Given the description of an element on the screen output the (x, y) to click on. 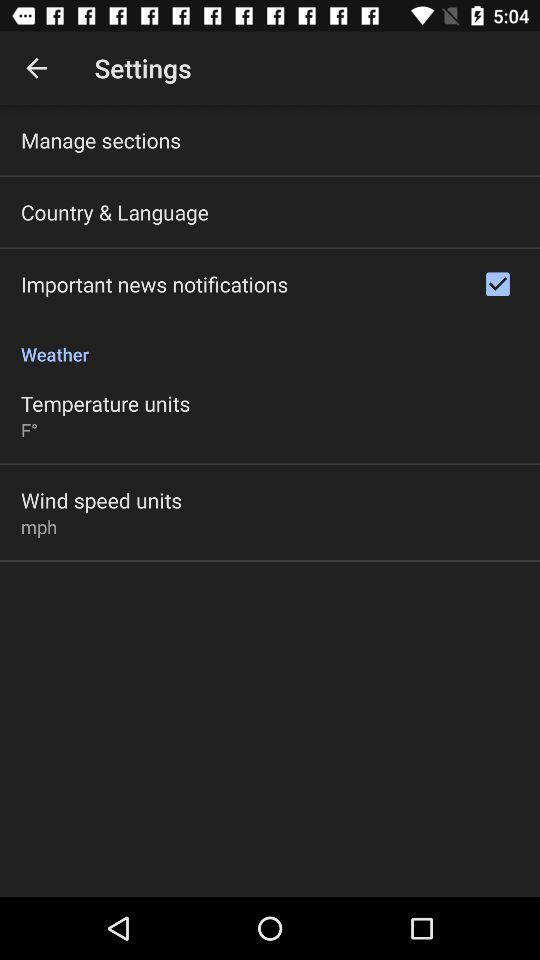
open icon to the left of settings item (36, 68)
